Given the description of an element on the screen output the (x, y) to click on. 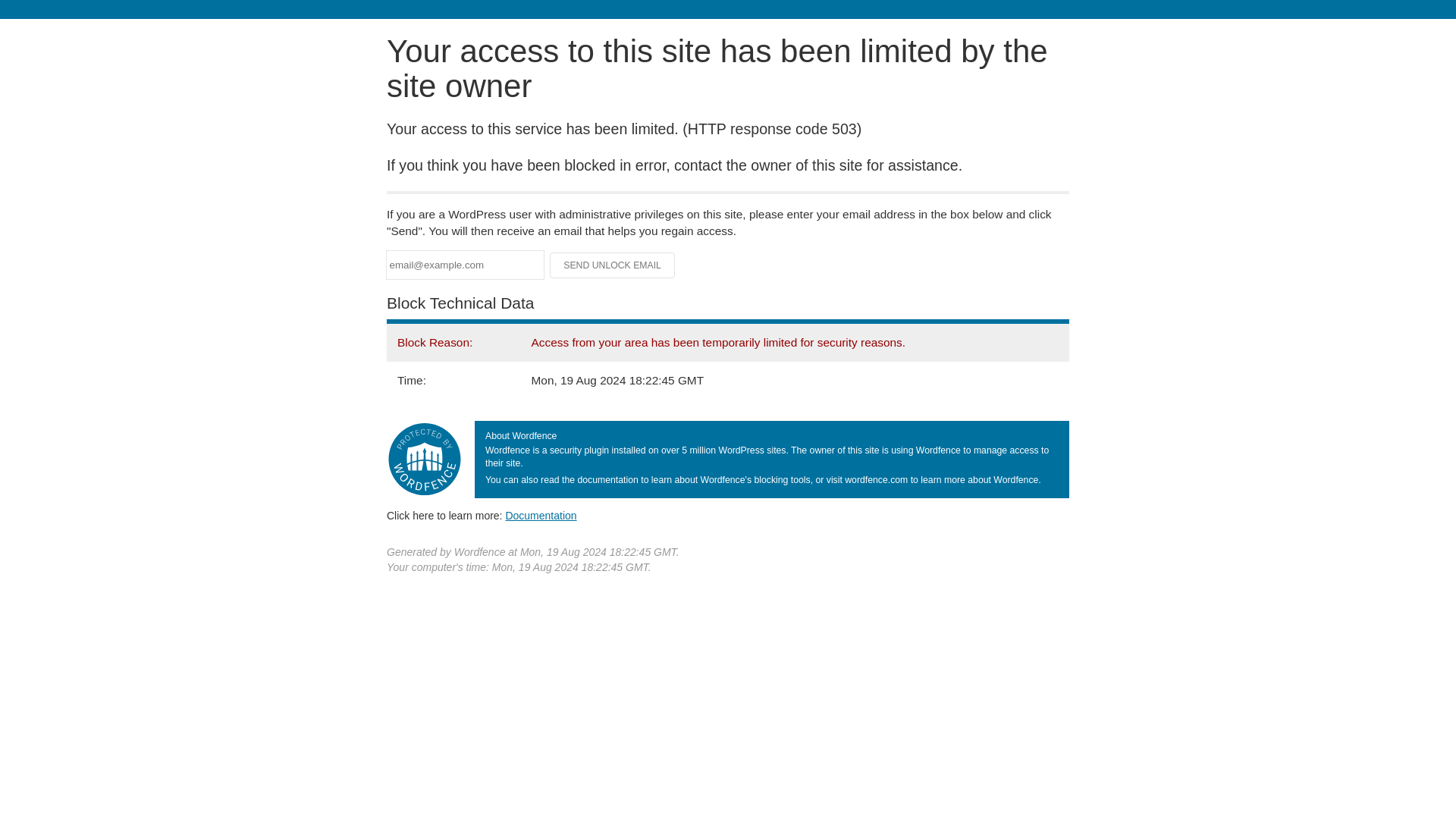
Send Unlock Email (612, 265)
Documentation (540, 515)
Send Unlock Email (612, 265)
